Given the description of an element on the screen output the (x, y) to click on. 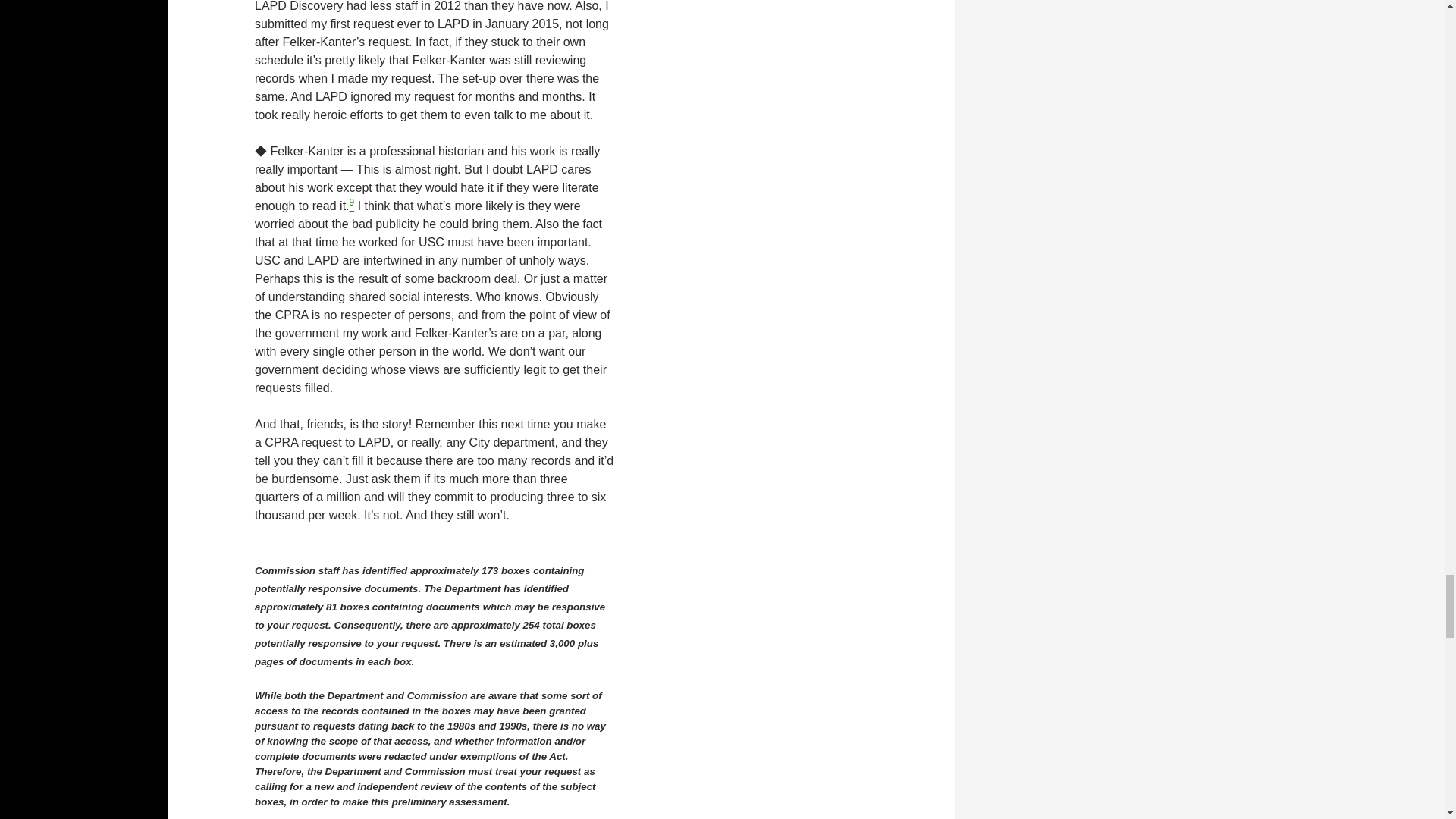
9 (352, 205)
